Given the description of an element on the screen output the (x, y) to click on. 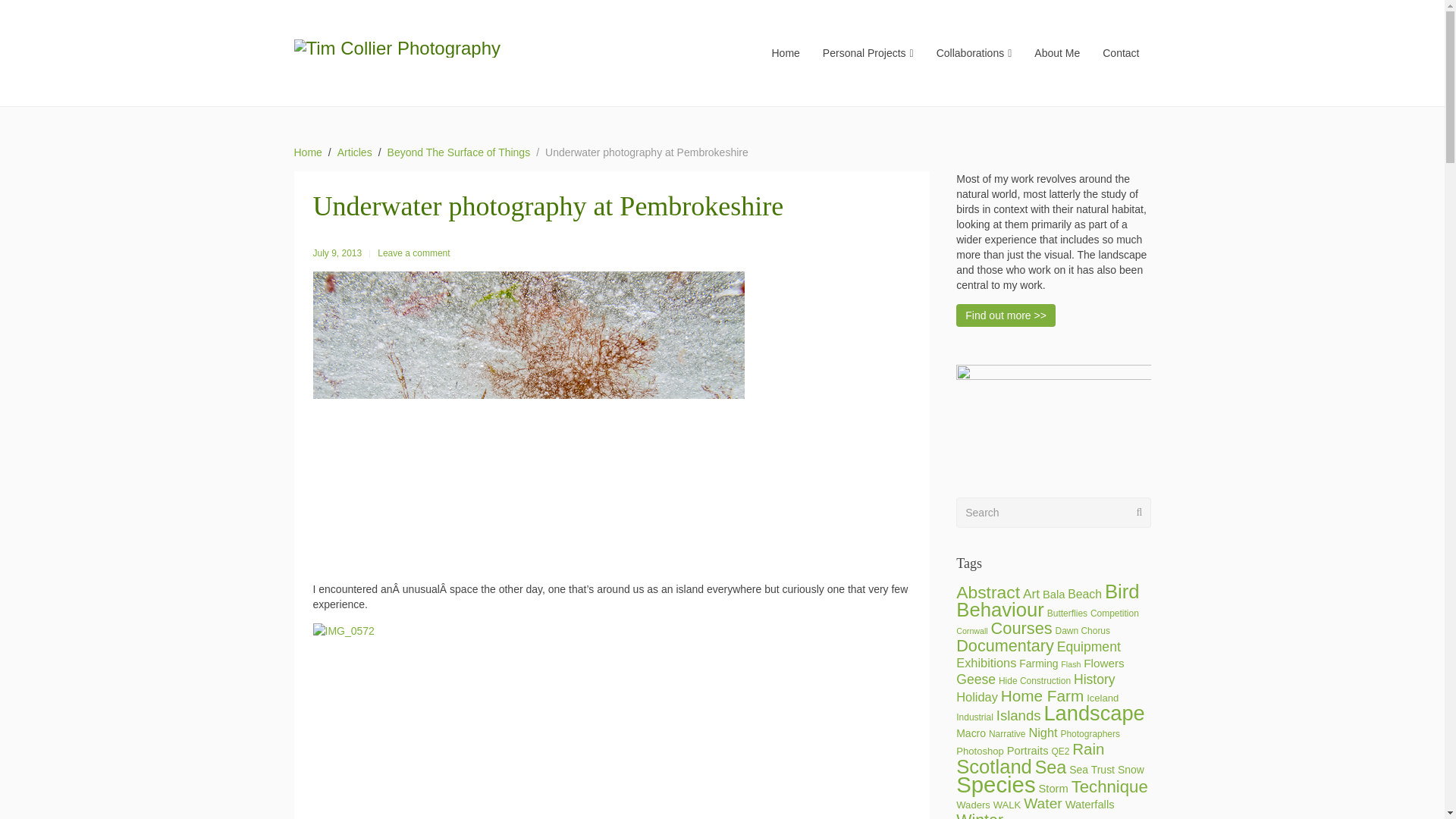
Leave a comment (413, 253)
Beyond The Surface of Things (459, 151)
Home (307, 151)
Articles (354, 151)
Contact (1120, 52)
Art (1031, 593)
Abstract (988, 591)
Personal Projects (867, 52)
About Me (1056, 52)
Home (785, 52)
Collaborations (973, 52)
